Given the description of an element on the screen output the (x, y) to click on. 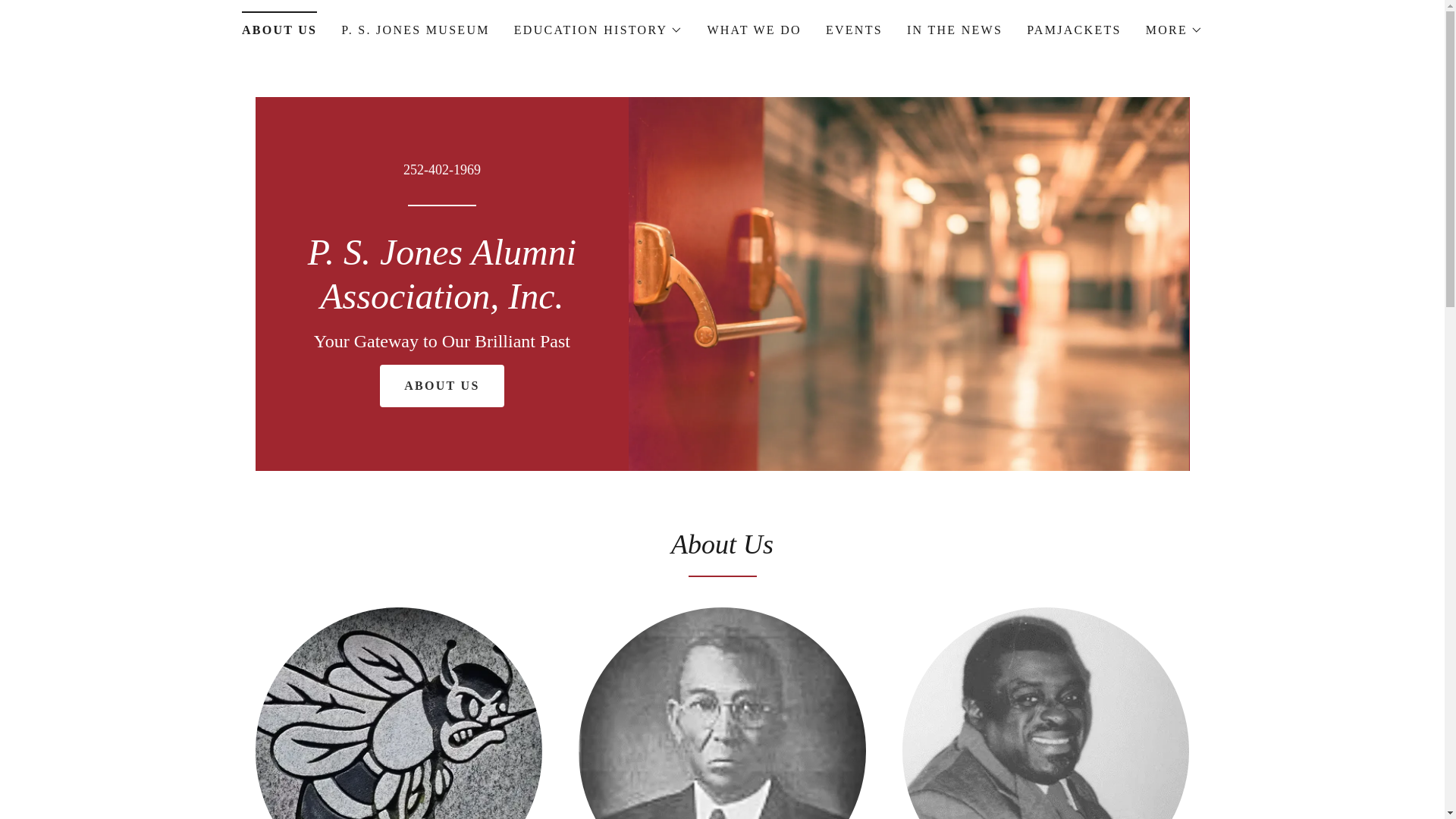
P. S. JONES MUSEUM (414, 30)
PAMJACKETS (1073, 30)
EDUCATION HISTORY (597, 30)
ABOUT US (279, 25)
IN THE NEWS (954, 30)
EVENTS (853, 30)
ABOUT US (441, 385)
252-402-1969 (441, 169)
WHAT WE DO (753, 30)
MORE (1173, 30)
P. S. Jones Alumni Association, Inc. (441, 304)
P. S. Jones Alumni Association, Inc. (441, 304)
